Given the description of an element on the screen output the (x, y) to click on. 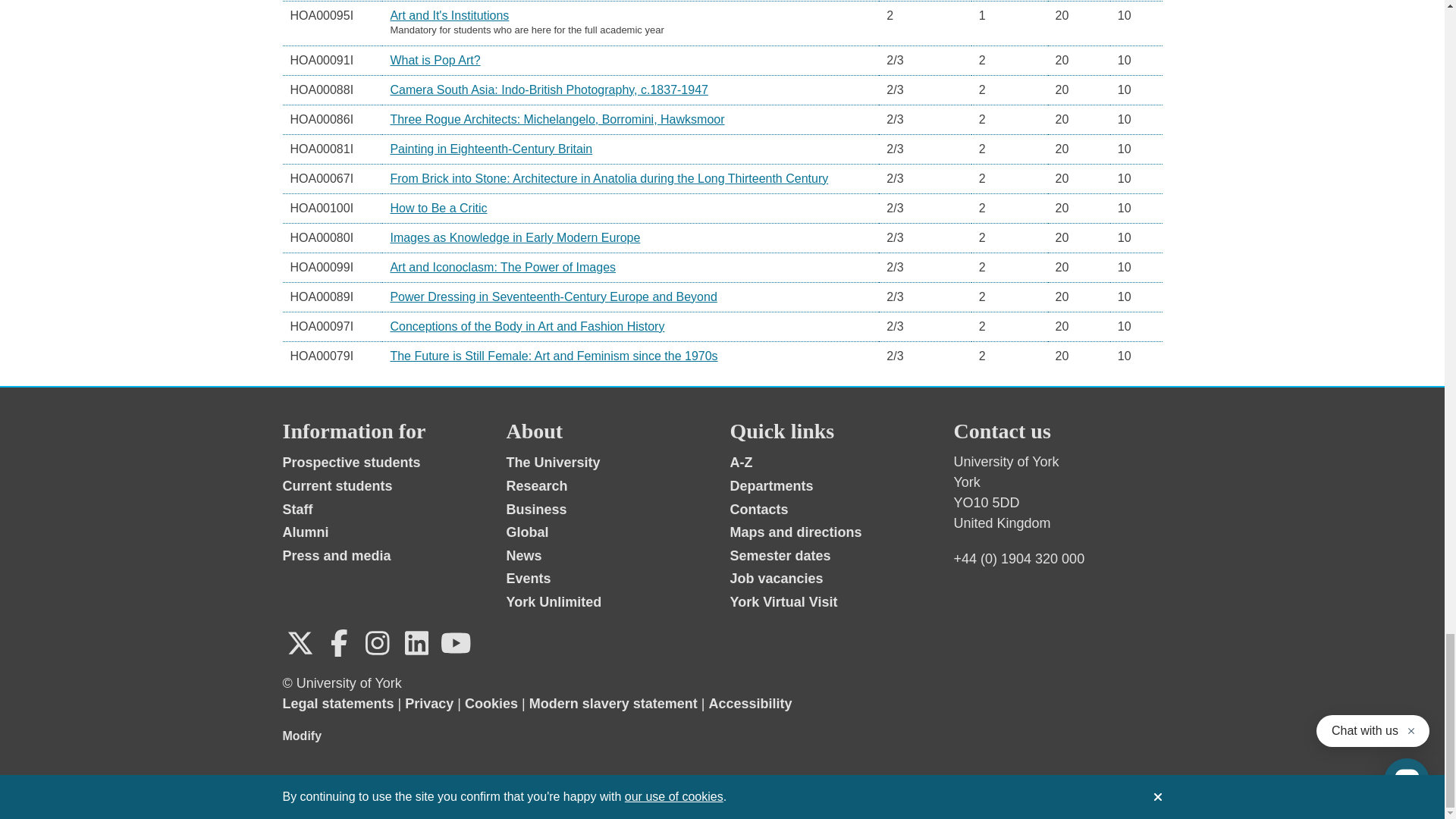
Watch our videos on YouTube (455, 642)
Follow us on LinkedIn (415, 642)
Like us on Facebook (338, 642)
Follow us on Instagram (376, 642)
Follow us on X (299, 642)
